Given the description of an element on the screen output the (x, y) to click on. 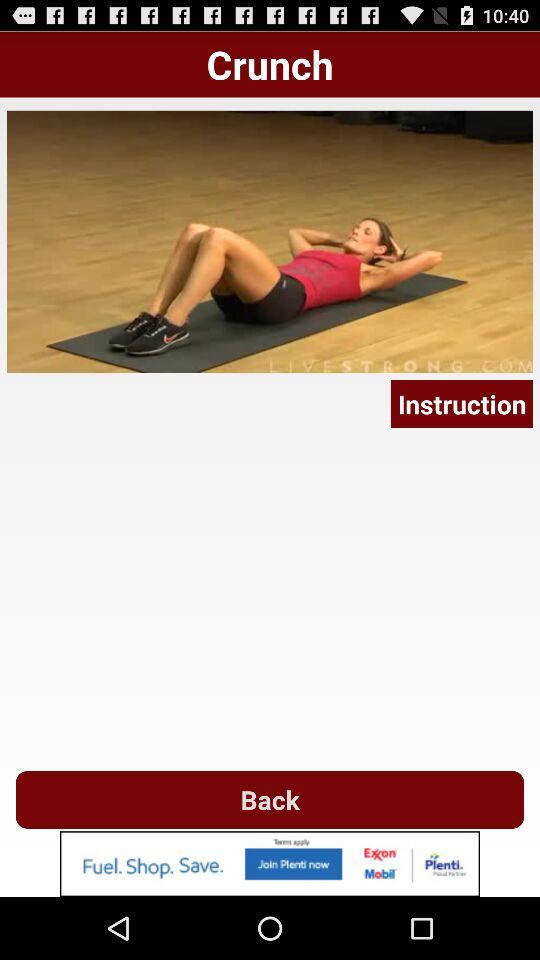
advertisement image (270, 864)
